Given the description of an element on the screen output the (x, y) to click on. 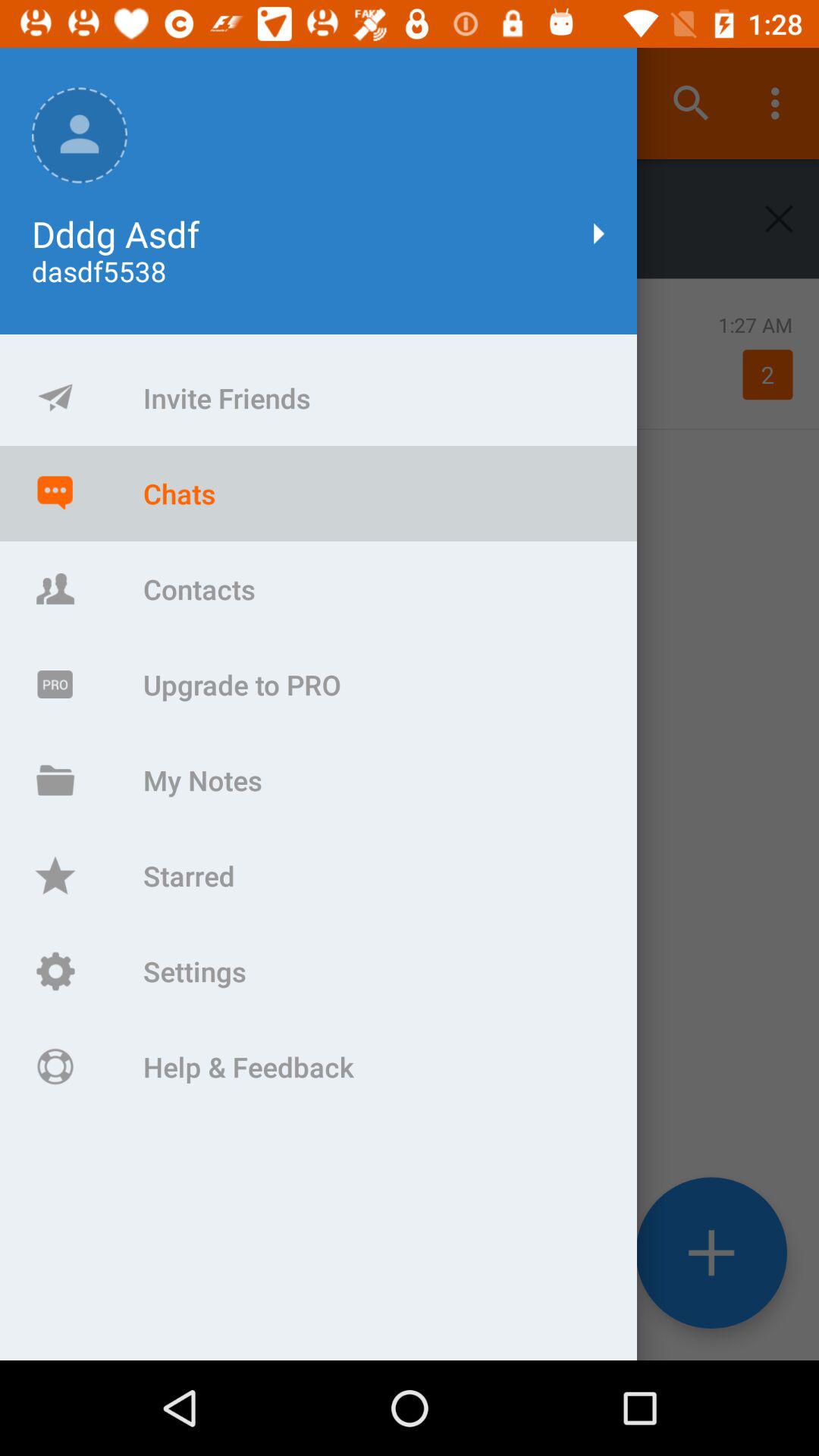
close window (779, 218)
